Given the description of an element on the screen output the (x, y) to click on. 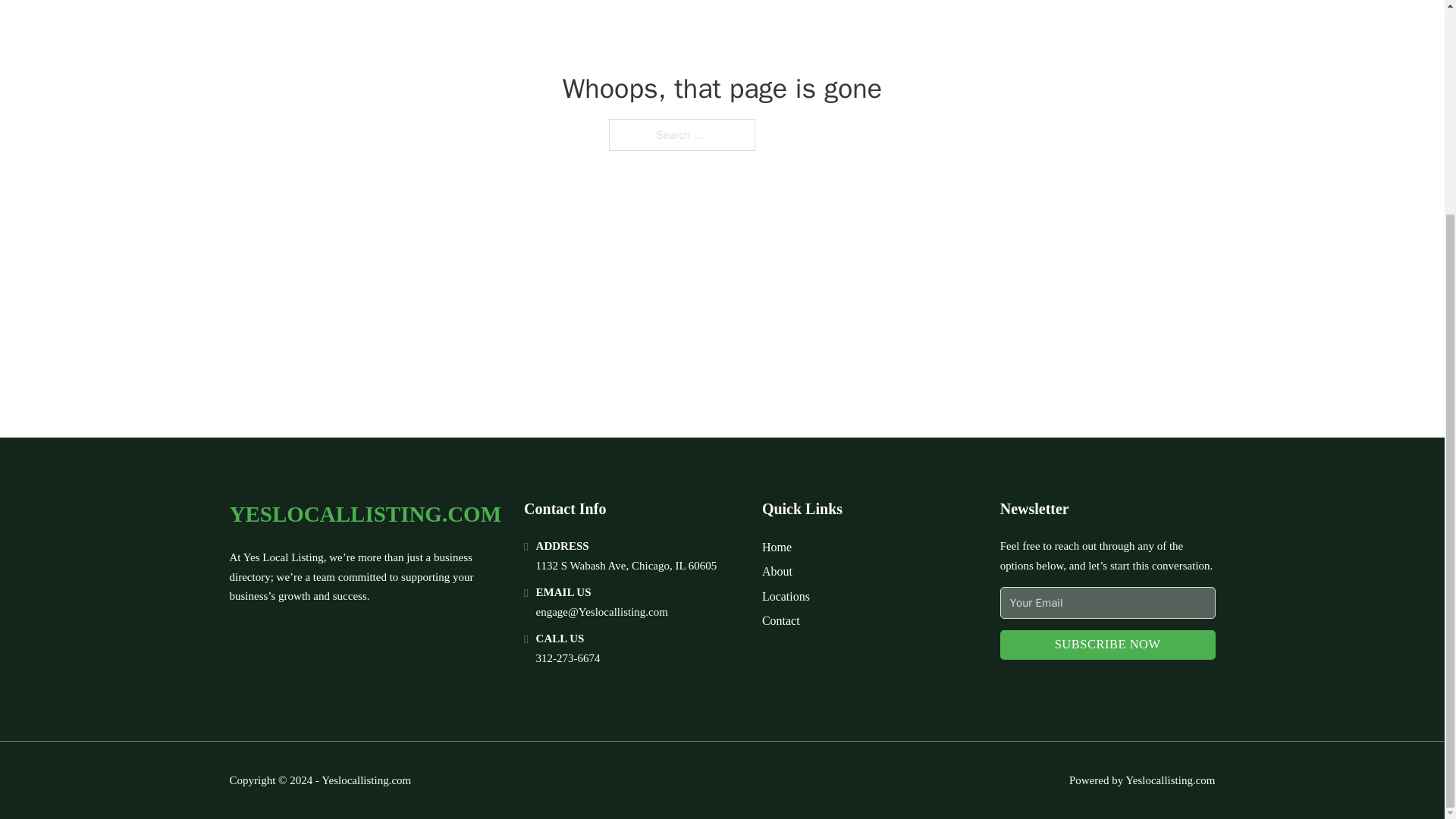
SUBSCRIBE NOW (1107, 644)
312-273-6674 (567, 657)
Home (776, 547)
About (776, 571)
YESLOCALLISTING.COM (364, 514)
Locations (785, 596)
Contact (780, 620)
